Given the description of an element on the screen output the (x, y) to click on. 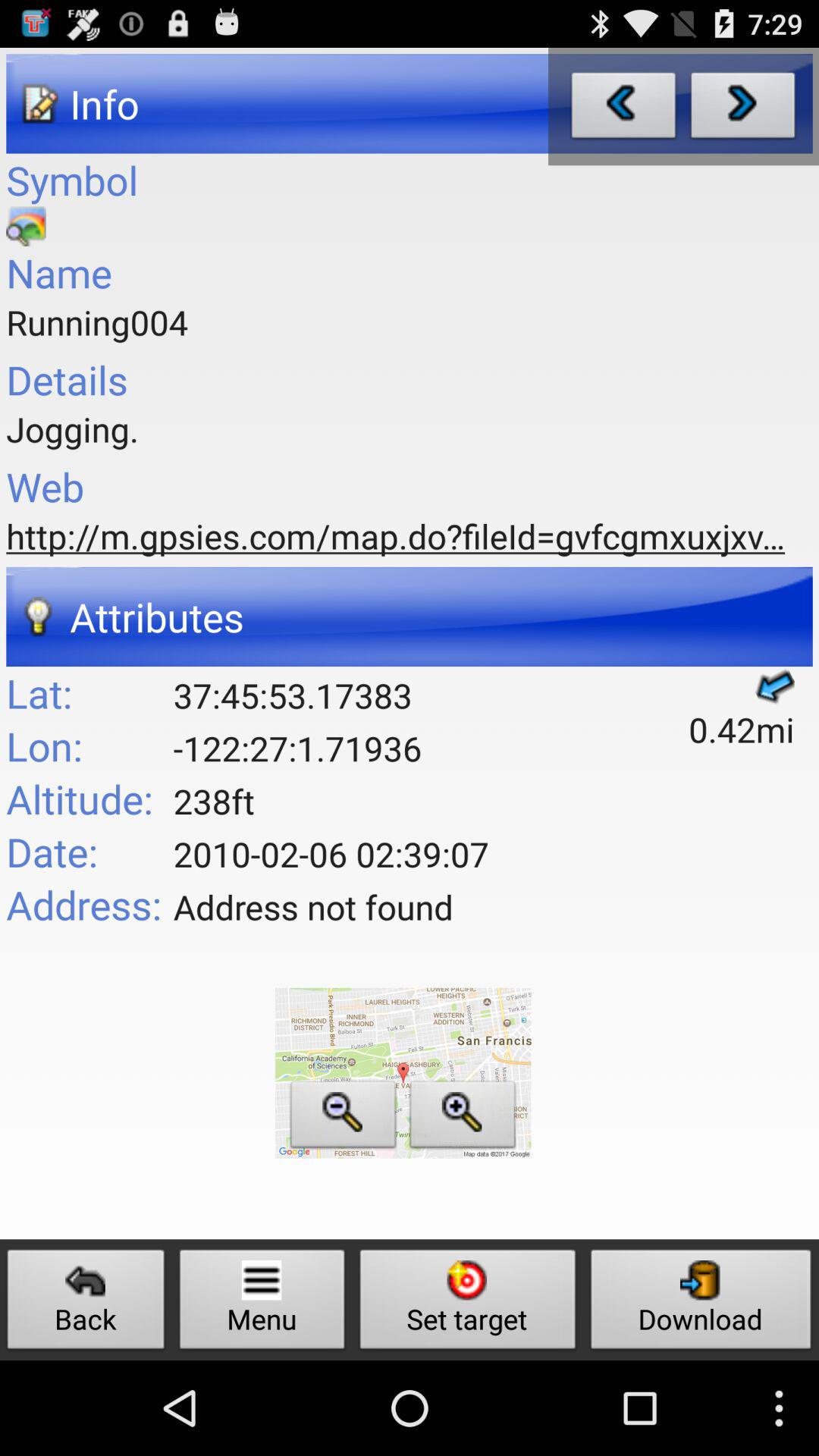
tap item next to set target item (701, 1303)
